Given the description of an element on the screen output the (x, y) to click on. 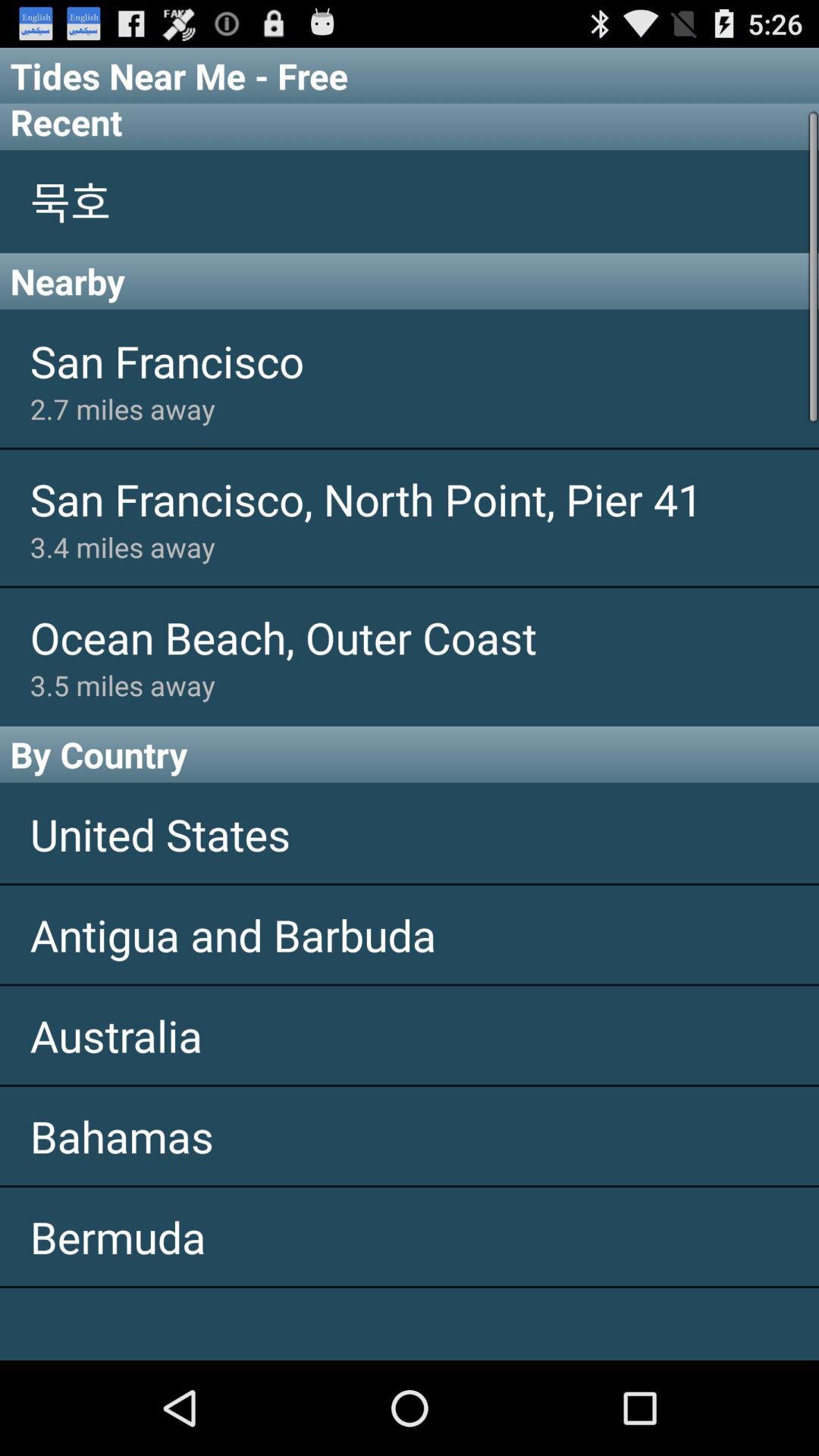
swipe to australia icon (409, 1035)
